Given the description of an element on the screen output the (x, y) to click on. 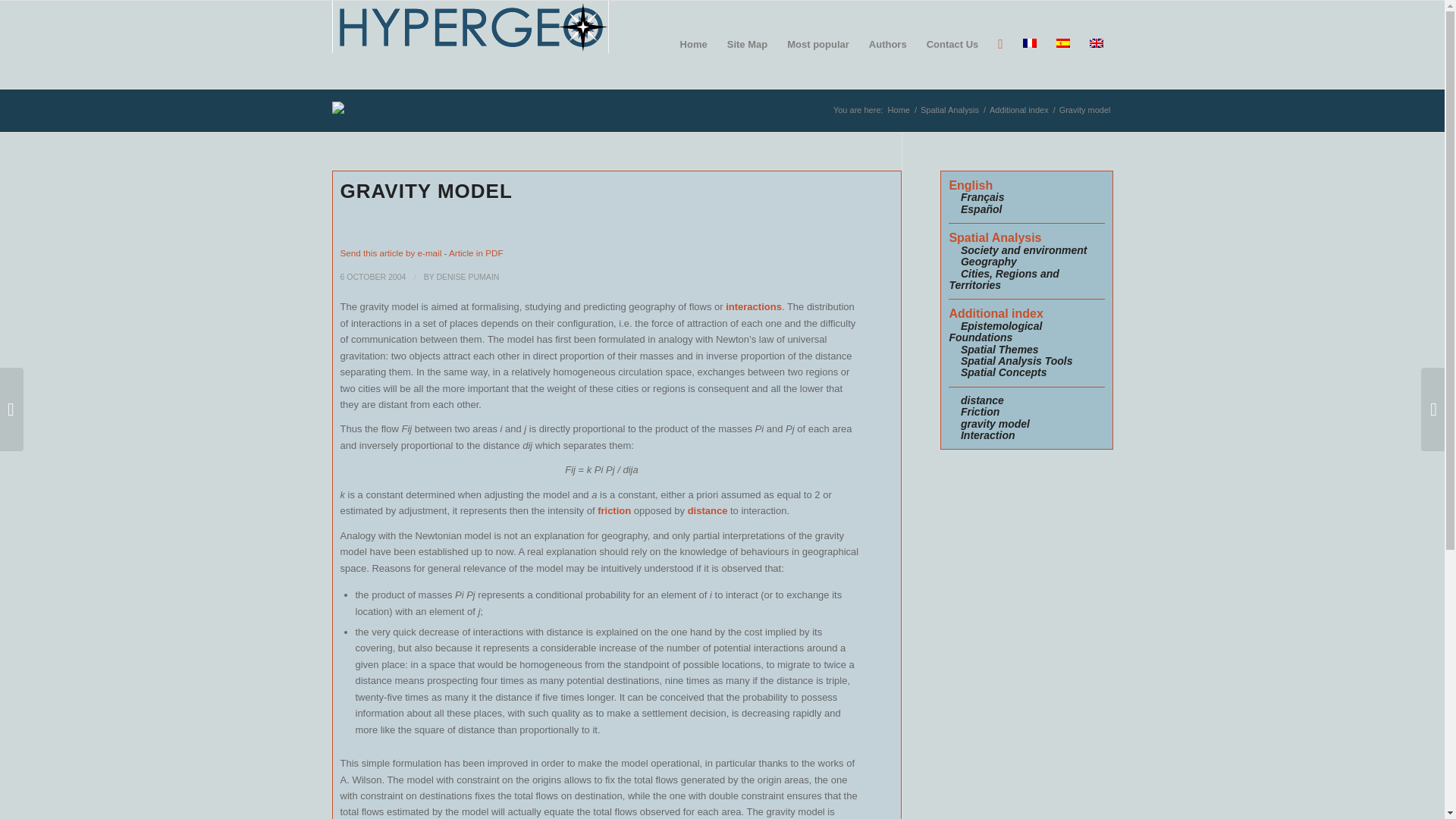
Spatial Analysis Tools (1016, 360)
Spatial Themes (999, 349)
Article in PDF (475, 252)
Spatial Concepts (1003, 372)
distance (982, 399)
Home (898, 110)
DENISE PUMAIN (467, 276)
Cities, Regions and Territories (1003, 279)
Epistemological Foundations (995, 331)
English (970, 185)
